Given the description of an element on the screen output the (x, y) to click on. 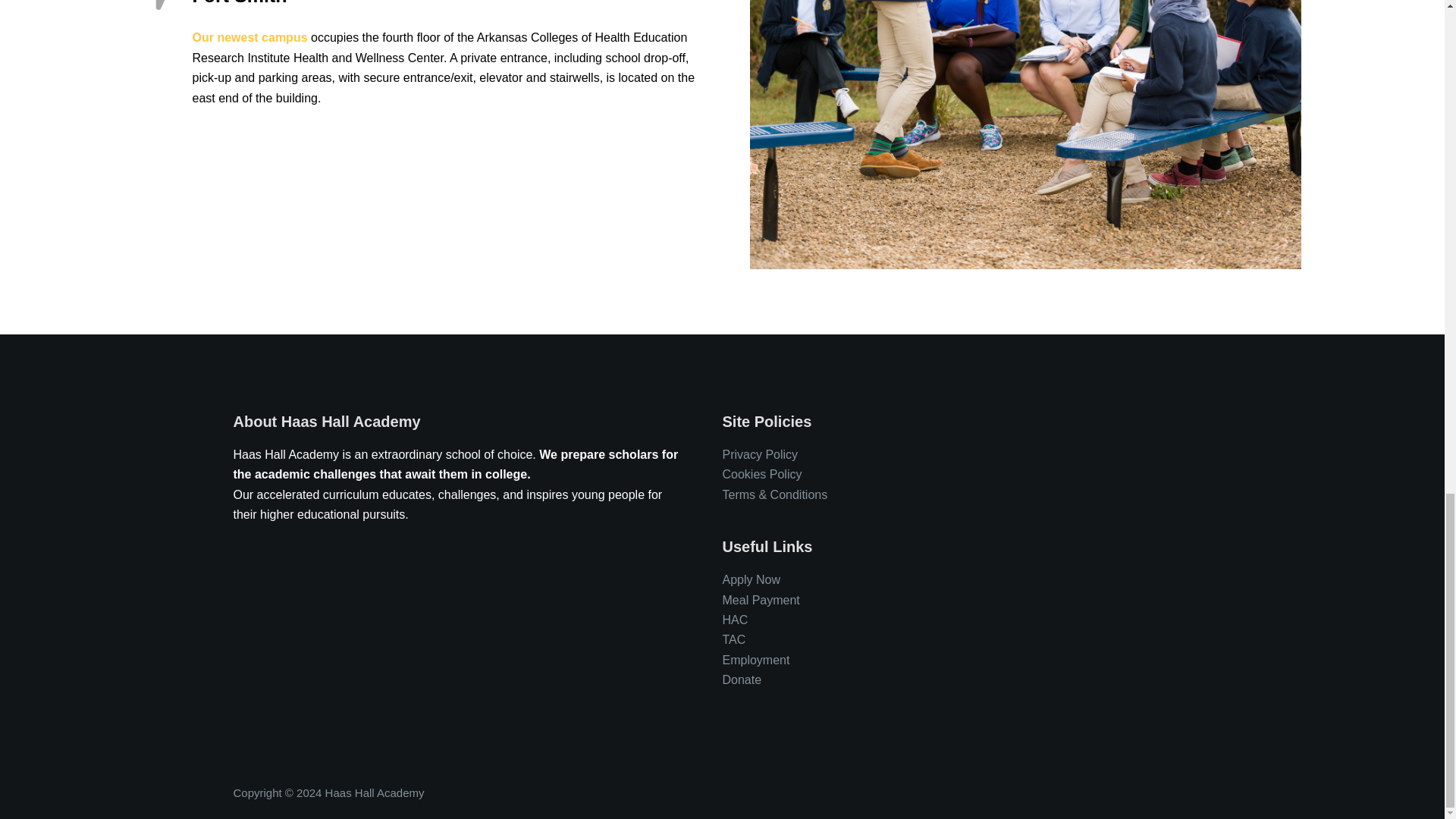
Our newest campus (251, 37)
Apply Now (750, 579)
Privacy Policy (759, 454)
Cookies Policy (762, 473)
